Given the description of an element on the screen output the (x, y) to click on. 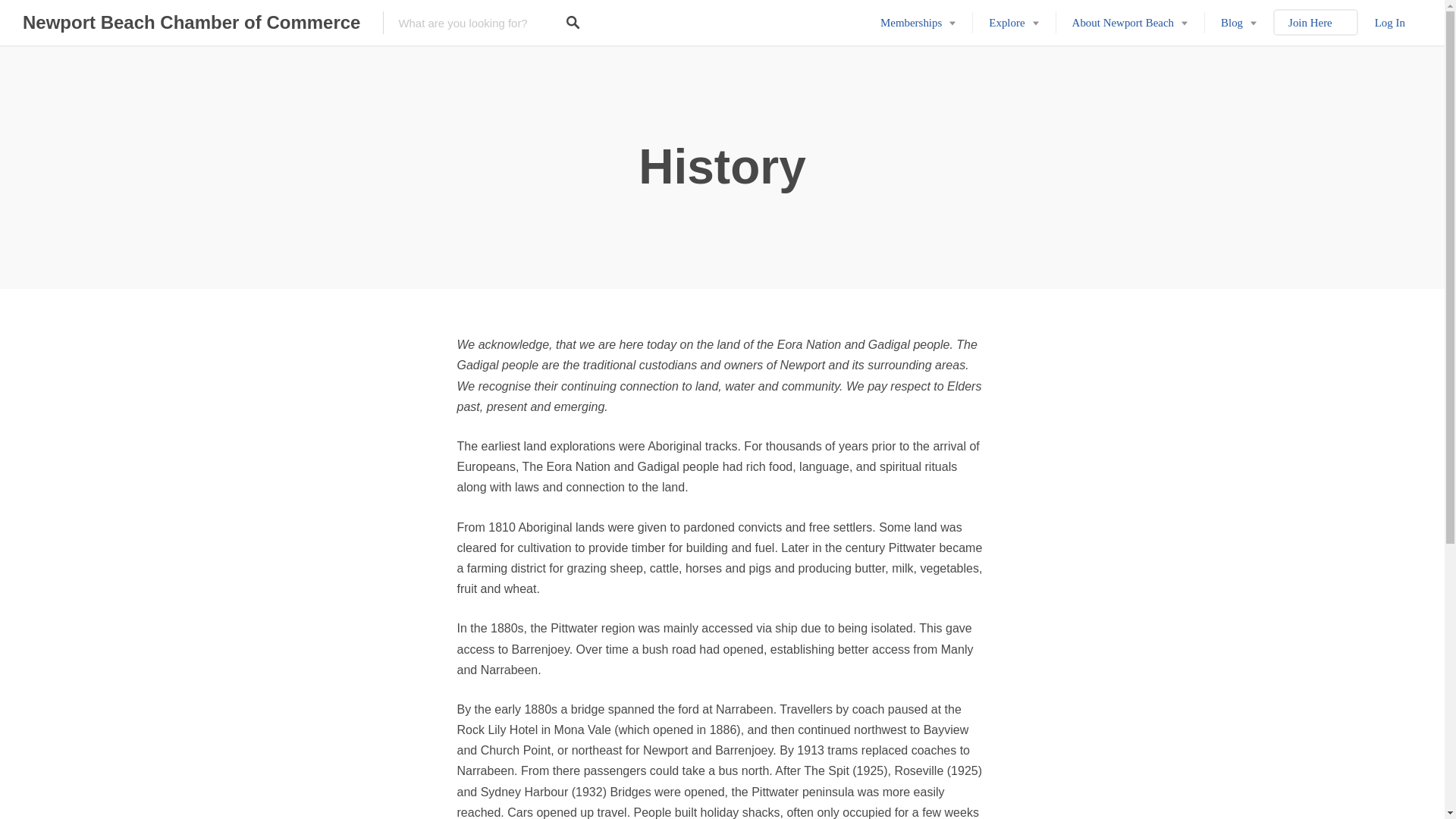
Explore (1013, 22)
Newport Beach Chamber of Commerce (191, 22)
Log In (1390, 22)
Blog (1238, 22)
About Newport Beach (1129, 22)
Join Here (1315, 22)
Memberships (917, 22)
